Given the description of an element on the screen output the (x, y) to click on. 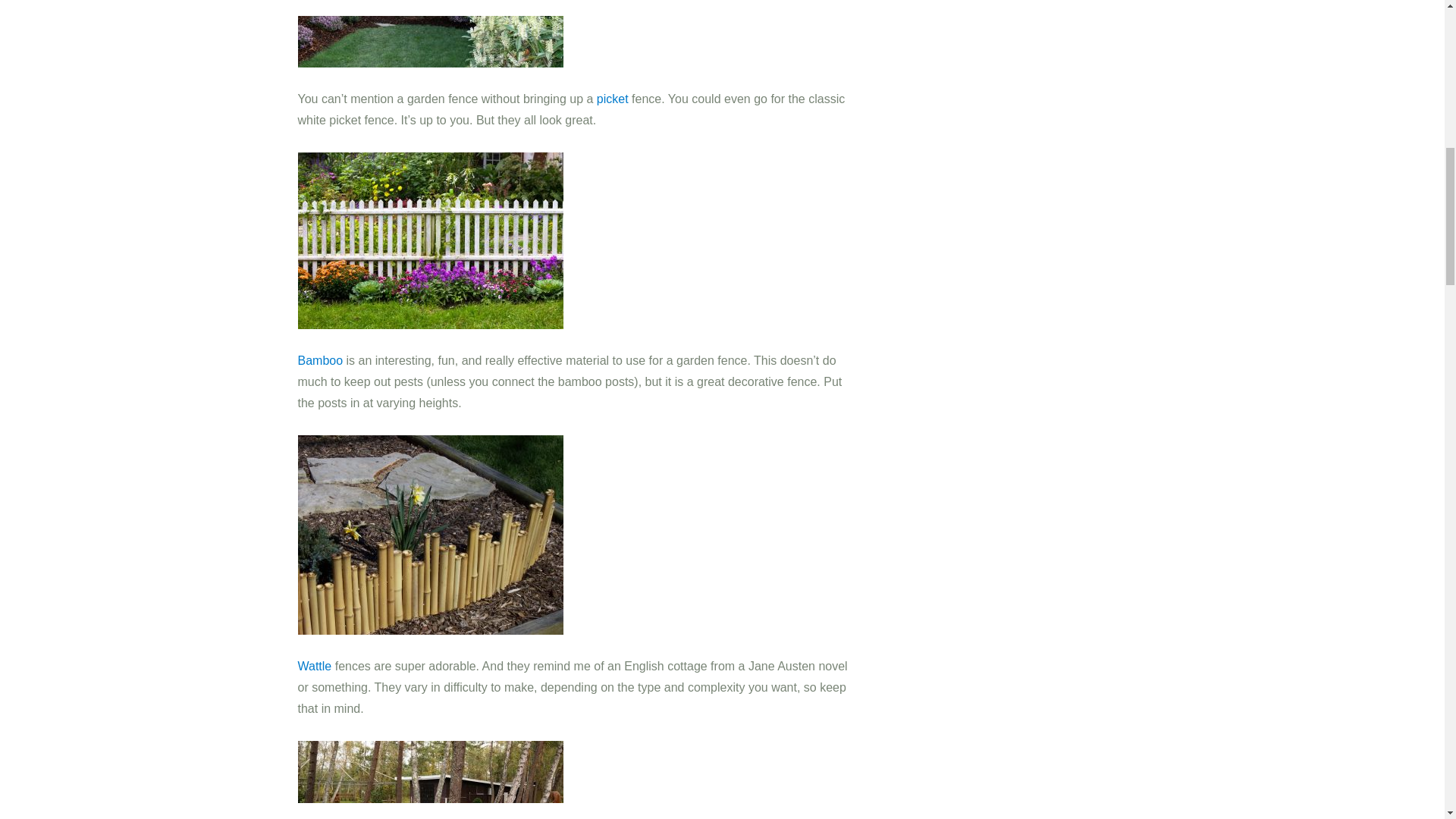
picket (613, 98)
Wattle (315, 666)
Bamboo (321, 359)
